Given the description of an element on the screen output the (x, y) to click on. 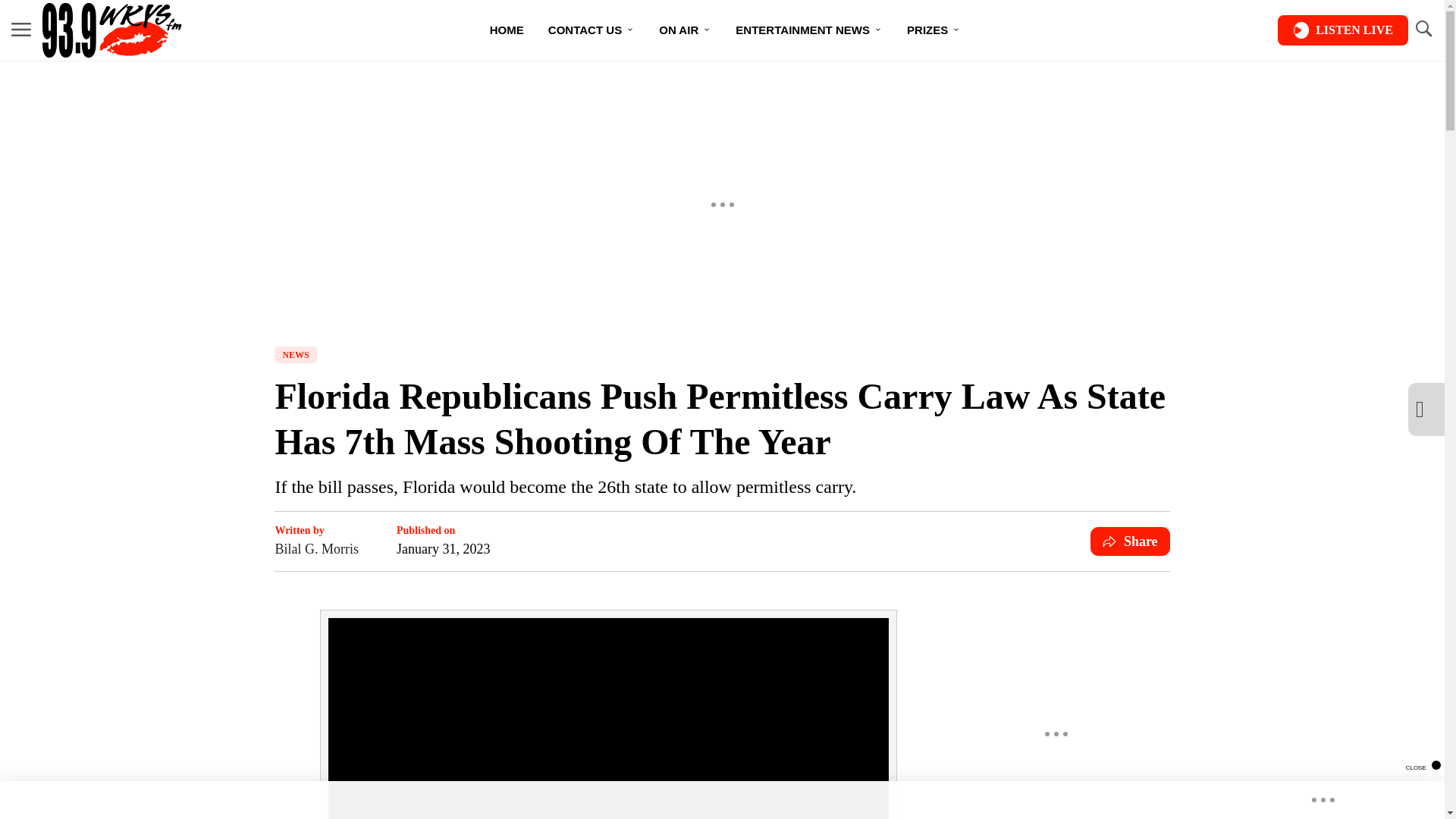
TOGGLE SEARCH (1422, 30)
LISTEN LIVE (1342, 30)
ON AIR (684, 30)
Share (1130, 541)
PRIZES (933, 30)
NEWS (295, 354)
ENTERTAINMENT NEWS (809, 30)
MENU (20, 30)
HOME (506, 30)
MENU (20, 29)
